Given the description of an element on the screen output the (x, y) to click on. 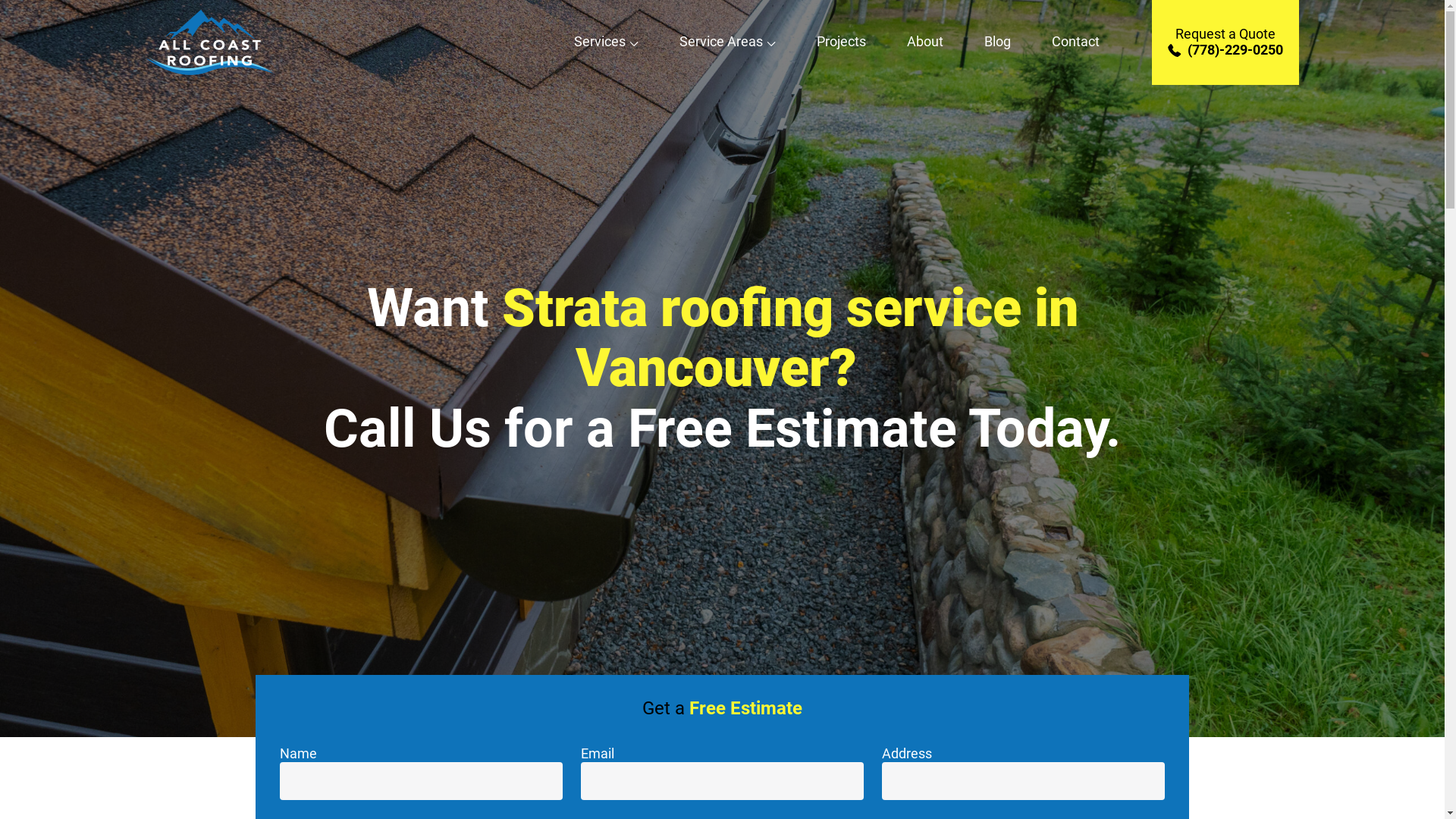
(778)-229-0250 Element type: text (1225, 50)
Blog Element type: text (997, 42)
Projects Element type: text (841, 42)
Service Areas Element type: text (727, 42)
Services Element type: text (605, 42)
About Element type: text (924, 42)
Contact Element type: text (1075, 42)
All Coast Roofing Element type: hover (209, 76)
